Given the description of an element on the screen output the (x, y) to click on. 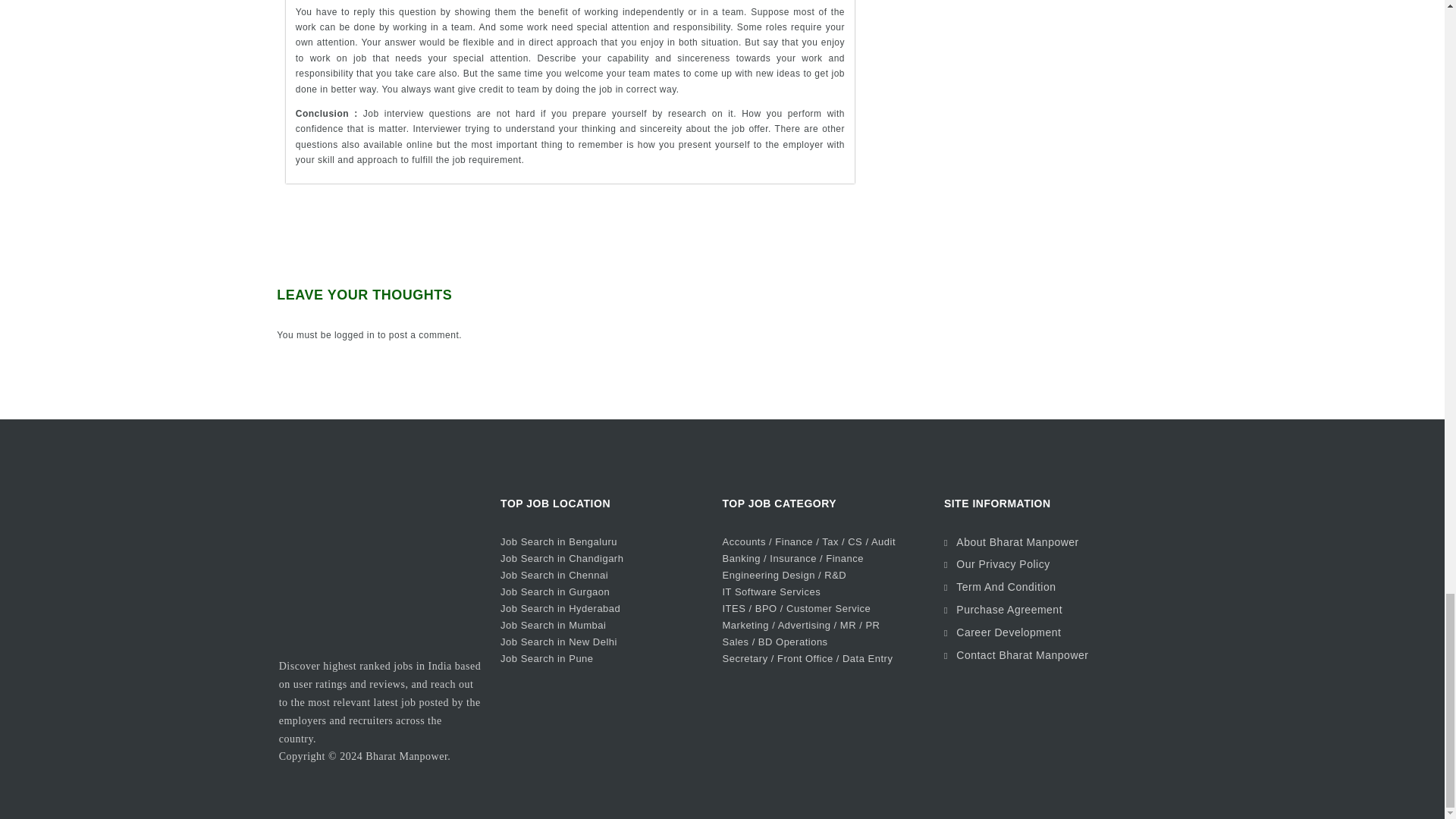
Job Search in New Delhi (558, 641)
logged in (354, 335)
Job Search in Chandigarh (561, 558)
Our Privacy Policy (1002, 563)
About Bharat Manpower (1017, 541)
Job Search in Mumbai (552, 624)
Job Search in Gurgaon (555, 591)
Job Search in Chennai (554, 574)
Bharat Manpower (405, 756)
Term And Condition (1005, 586)
Job Search in Bengaluru (558, 541)
Job Search in Pune (546, 658)
Job Search in Hyderabad (560, 608)
IT Software Services (771, 591)
